Given the description of an element on the screen output the (x, y) to click on. 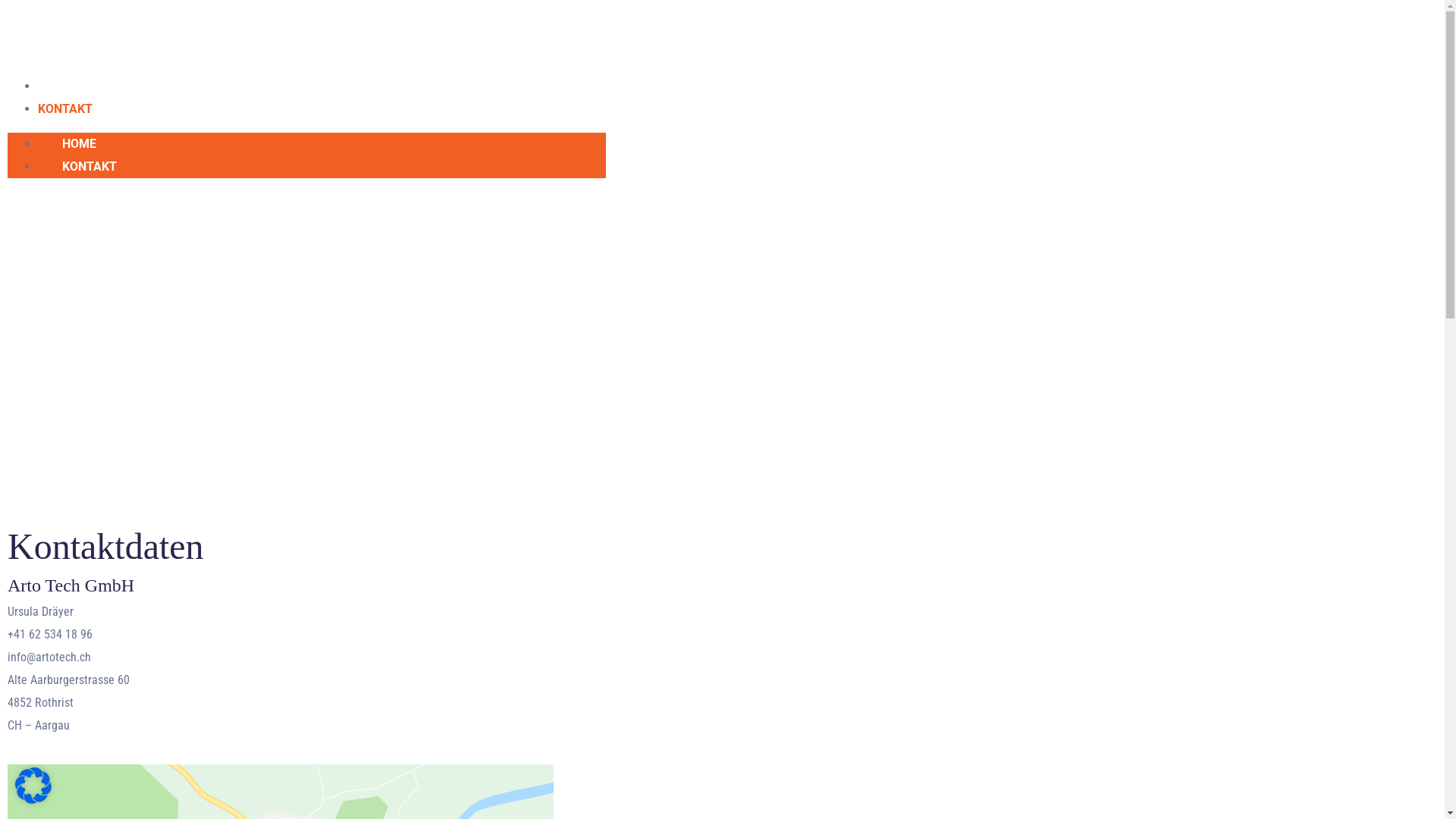
KONTAKT Element type: text (64, 108)
HOME Element type: text (54, 85)
HOME Element type: text (78, 143)
KONTAKT Element type: text (89, 166)
